Given the description of an element on the screen output the (x, y) to click on. 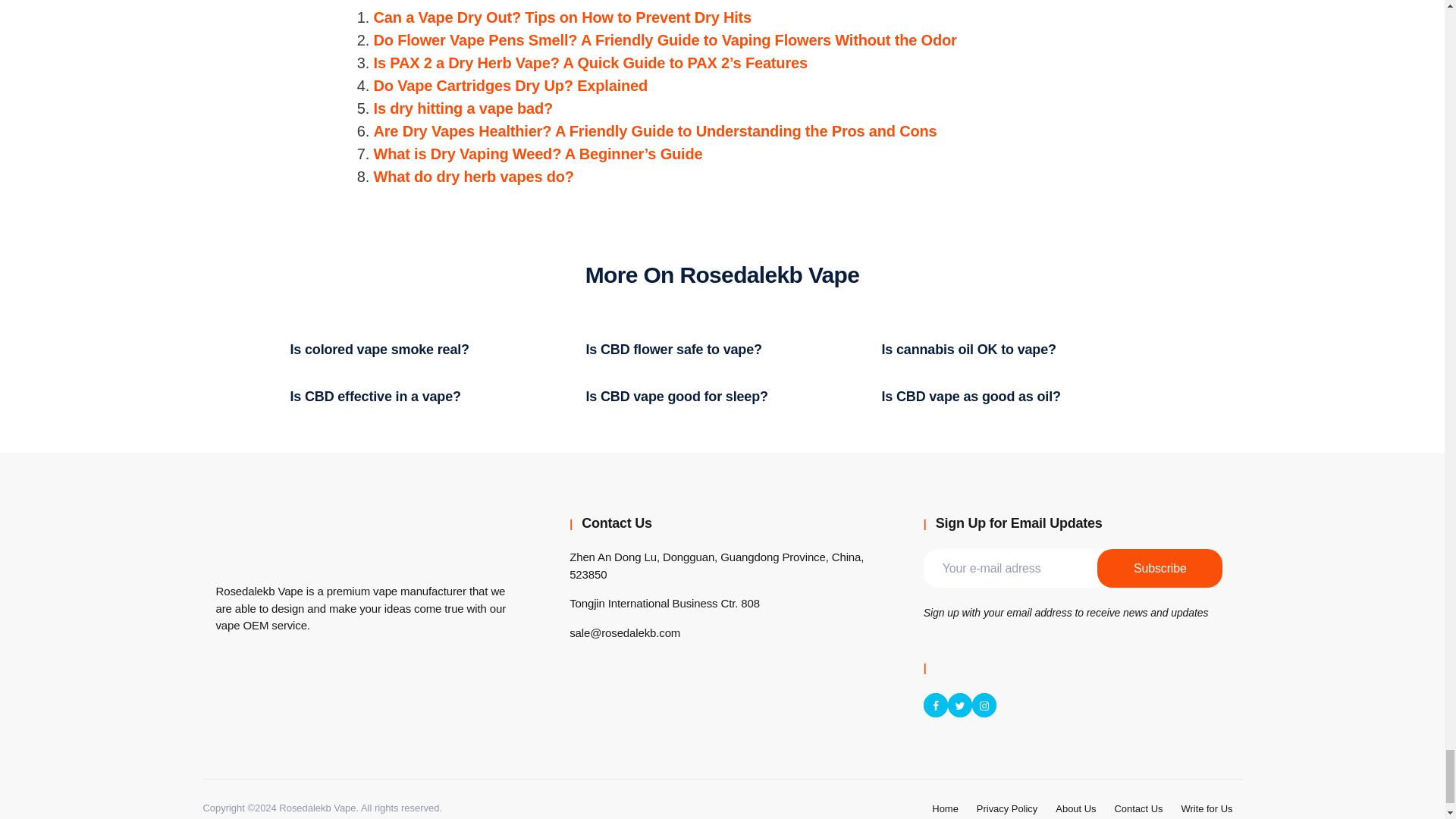
Subscribe (1160, 568)
Can a Vape Dry Out? Tips on How to Prevent Dry Hits (561, 17)
